Given the description of an element on the screen output the (x, y) to click on. 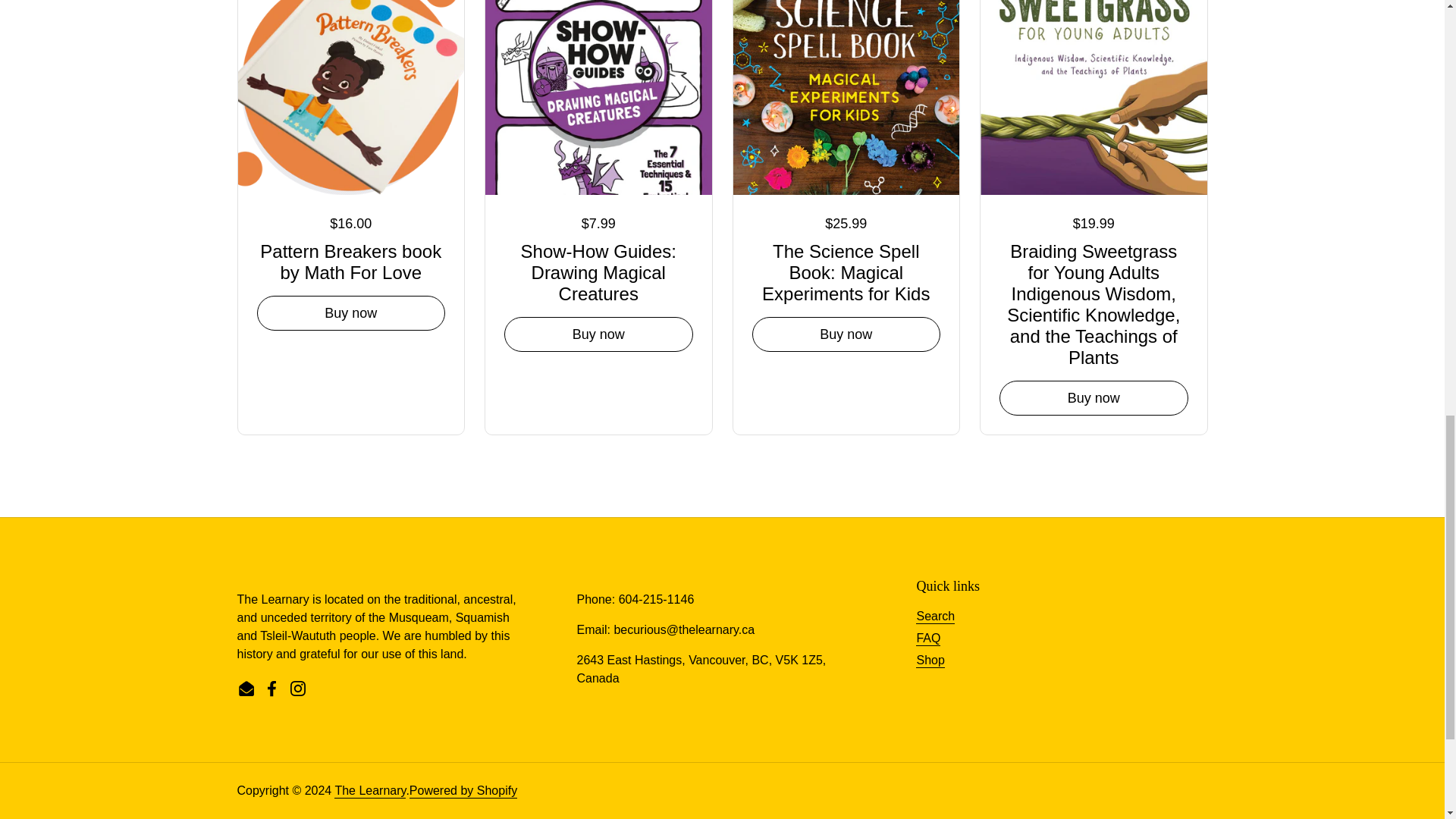
Show-How Guides: Drawing Magical Creatures (598, 269)
The Science Spell Book: Magical Experiments for Kids (846, 269)
Pattern Breakers book by Math For Love (350, 259)
